Given the description of an element on the screen output the (x, y) to click on. 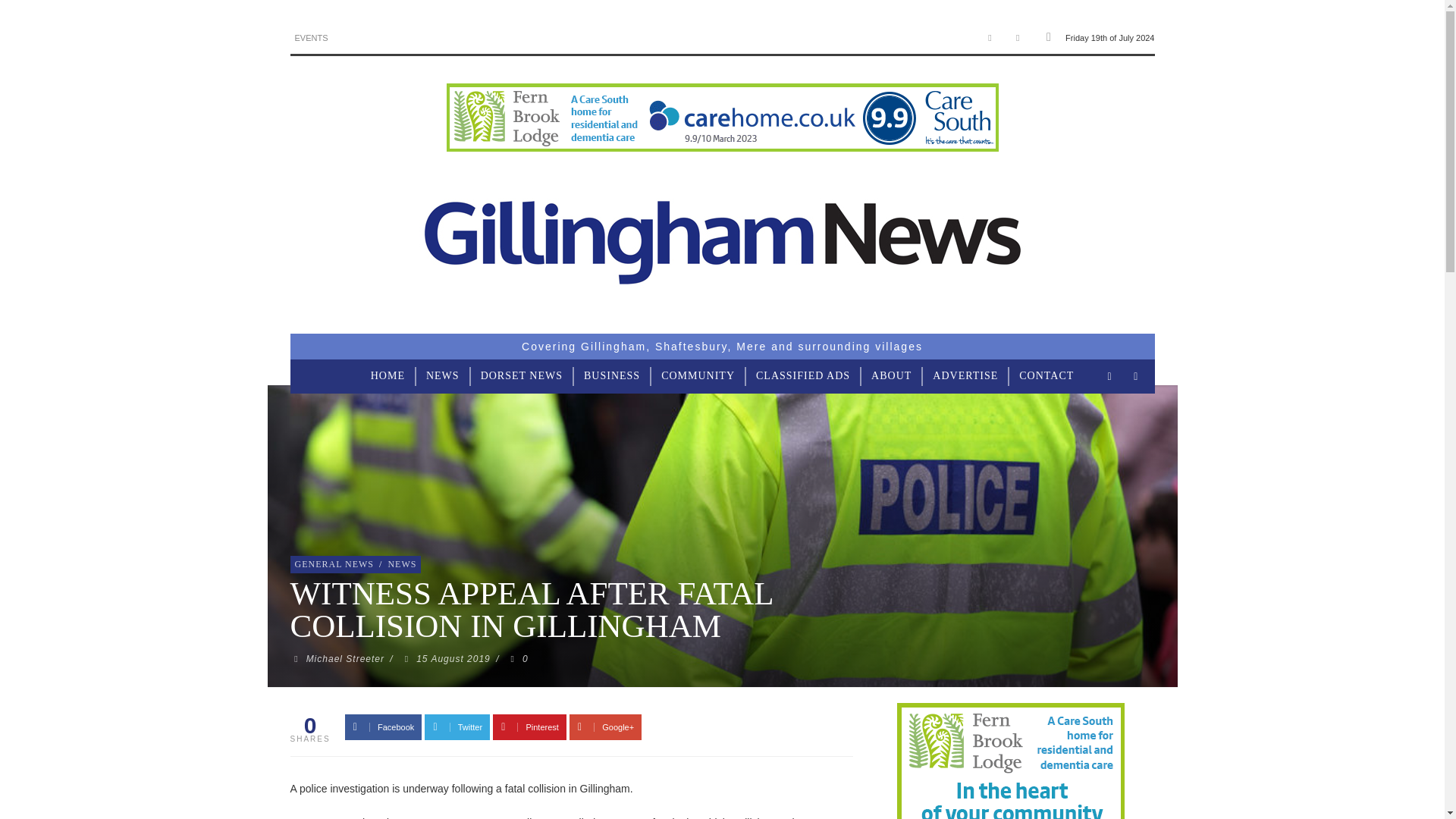
Twitter (1018, 38)
COMMUNITY (698, 376)
DORSET NEWS (521, 376)
EVENTS (310, 38)
CONTACT (1046, 376)
Twitter (457, 727)
Facebook (989, 38)
15 August 2019 (453, 658)
CLASSIFIED ADS (802, 376)
ABOUT (890, 376)
Facebook (383, 727)
ADVERTISE (965, 376)
GENERAL NEWS (334, 563)
0 (517, 658)
NEWS (401, 563)
